Given the description of an element on the screen output the (x, y) to click on. 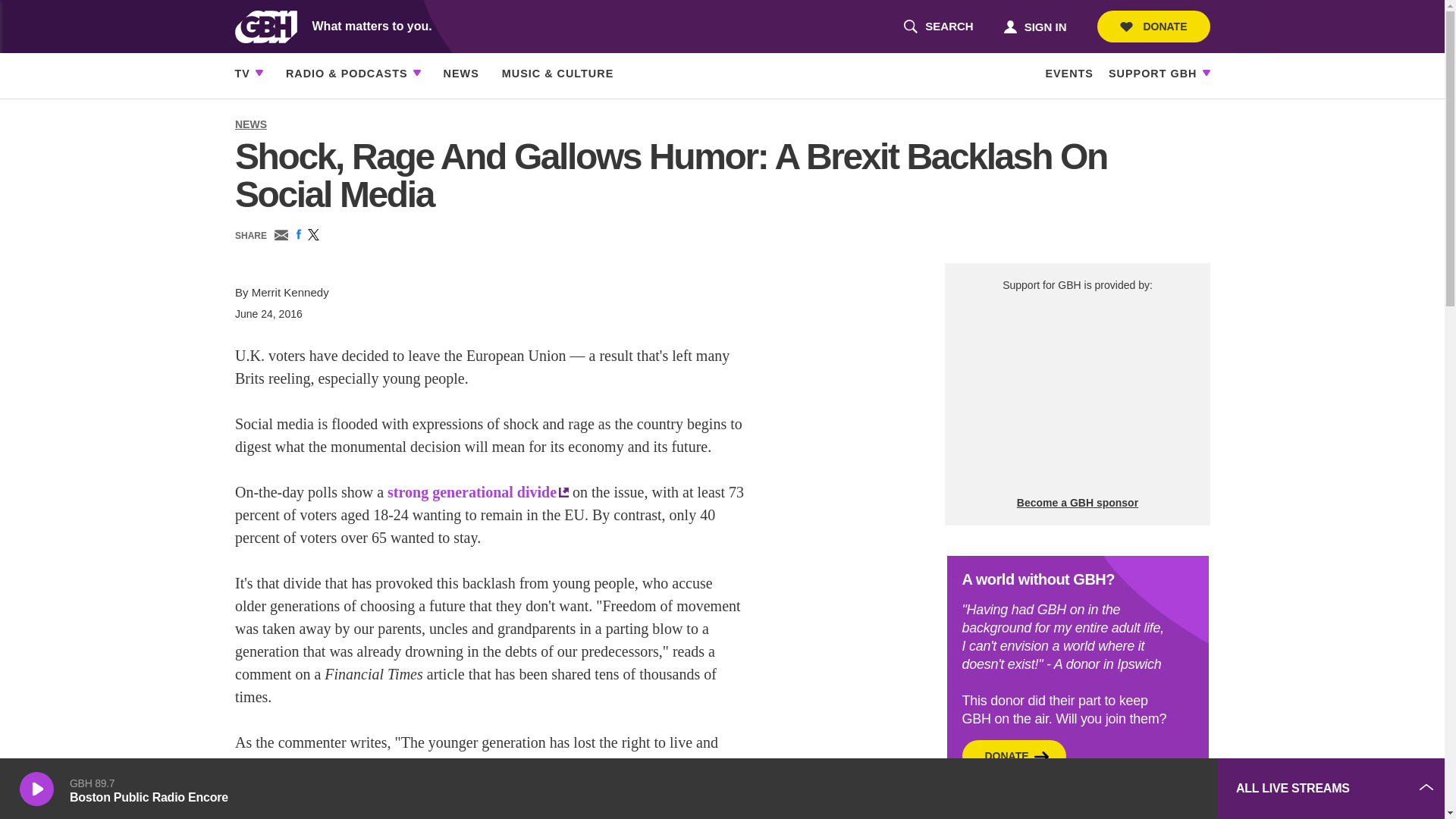
SIGN IN (1034, 25)
3rd party ad content (1091, 788)
DONATE (937, 26)
3rd party ad content (1153, 26)
